Given the description of an element on the screen output the (x, y) to click on. 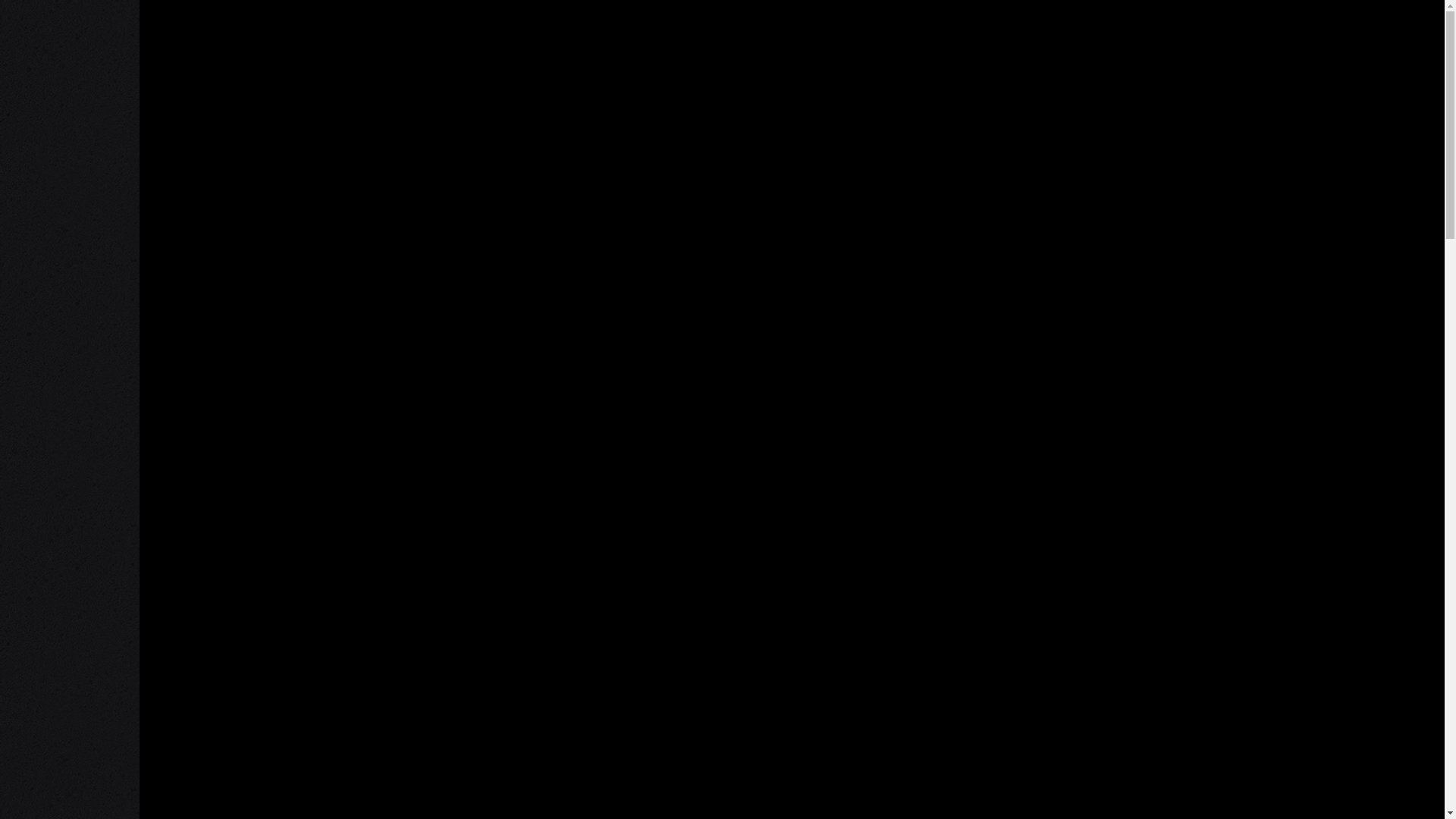
Nanjing Automobile Museum Element type: text (1052, 652)
The Pinecones Resort Element type: text (1052, 391)
Lecco Fire Station Element type: text (791, 130)
Tampere Art Museum Element type: text (530, 391)
House For Africa Element type: text (791, 391)
The Secret Garden Element type: text (1313, 391)
Bamboo Cluster Pavilions Element type: text (269, 652)
CBD in Xian Element type: text (791, 652)
Shelf Hotel Element type: text (1052, 130)
Bubble Building Element type: text (530, 652)
Red Wall Element type: text (530, 130)
Origami Temple Element type: text (269, 130)
Umbrella Facade Element type: text (1313, 652)
The Green Spaceship Element type: text (269, 391)
St John Bosco New Church Element type: text (1313, 130)
